Given the description of an element on the screen output the (x, y) to click on. 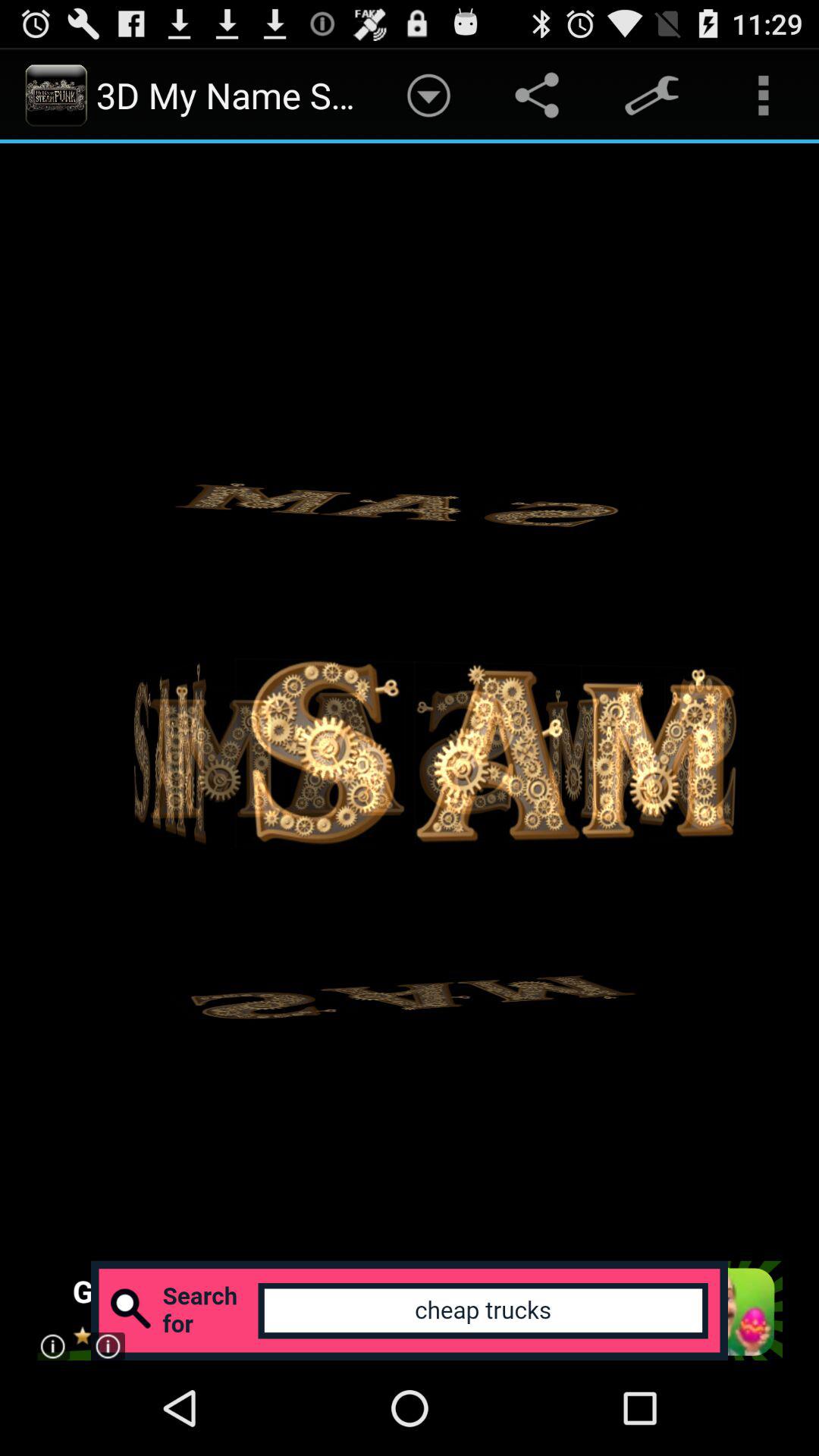
search (408, 1310)
